Given the description of an element on the screen output the (x, y) to click on. 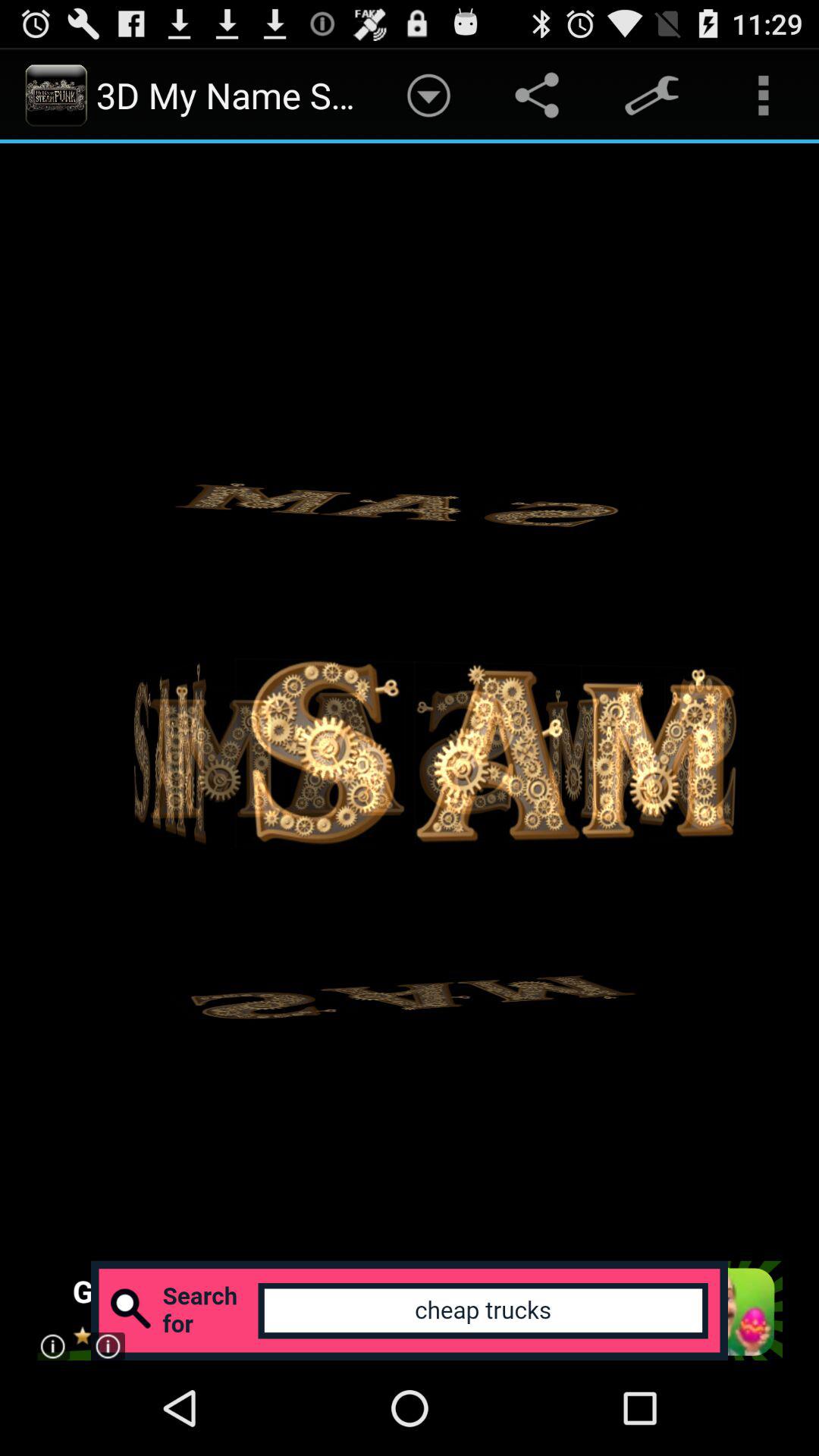
search (408, 1310)
